Given the description of an element on the screen output the (x, y) to click on. 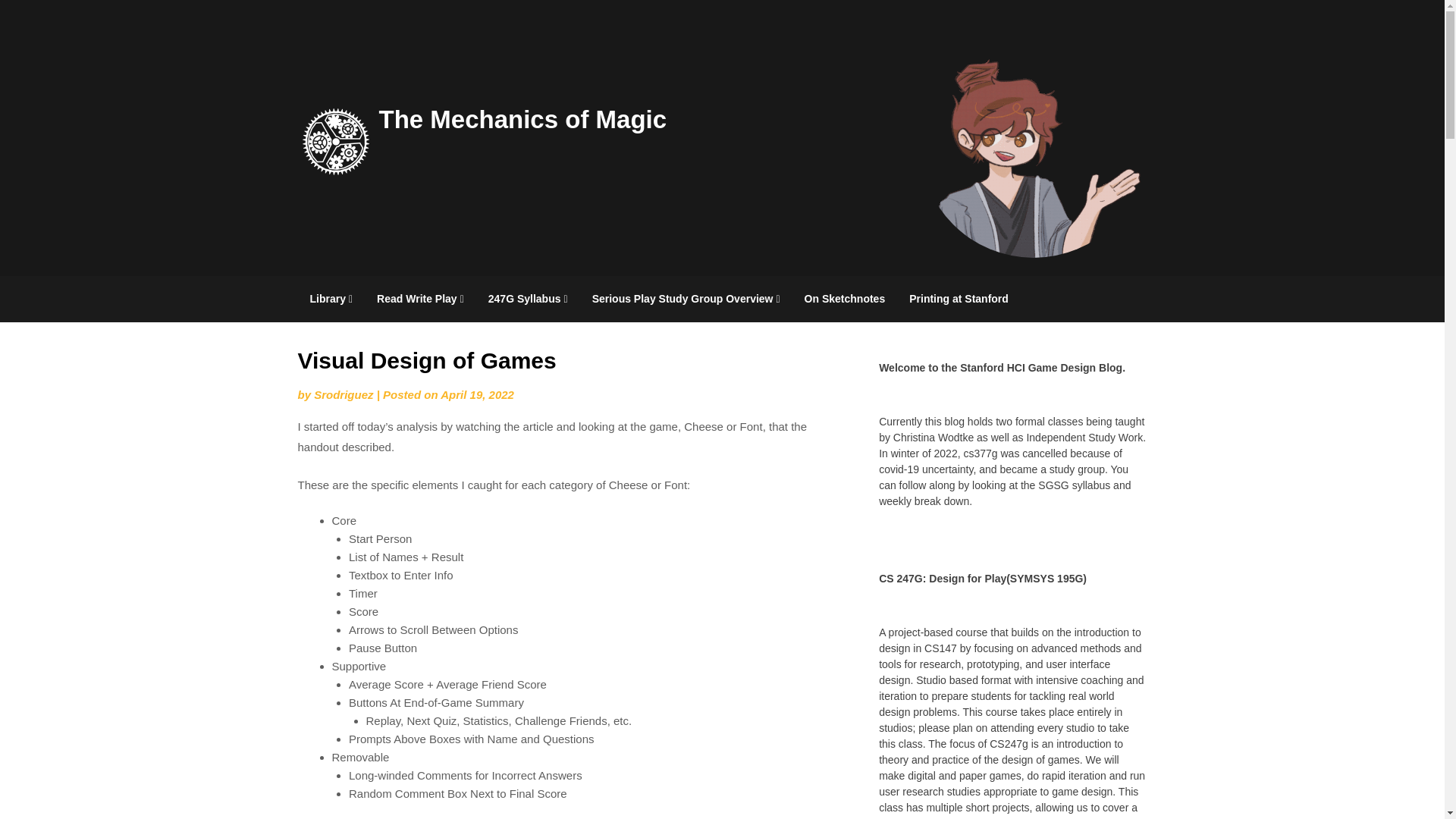
Library (331, 299)
Serious Play Study Group Overview (685, 299)
The Mechanics of Magic (522, 118)
247G Syllabus (527, 299)
Read Write Play (420, 299)
